Given the description of an element on the screen output the (x, y) to click on. 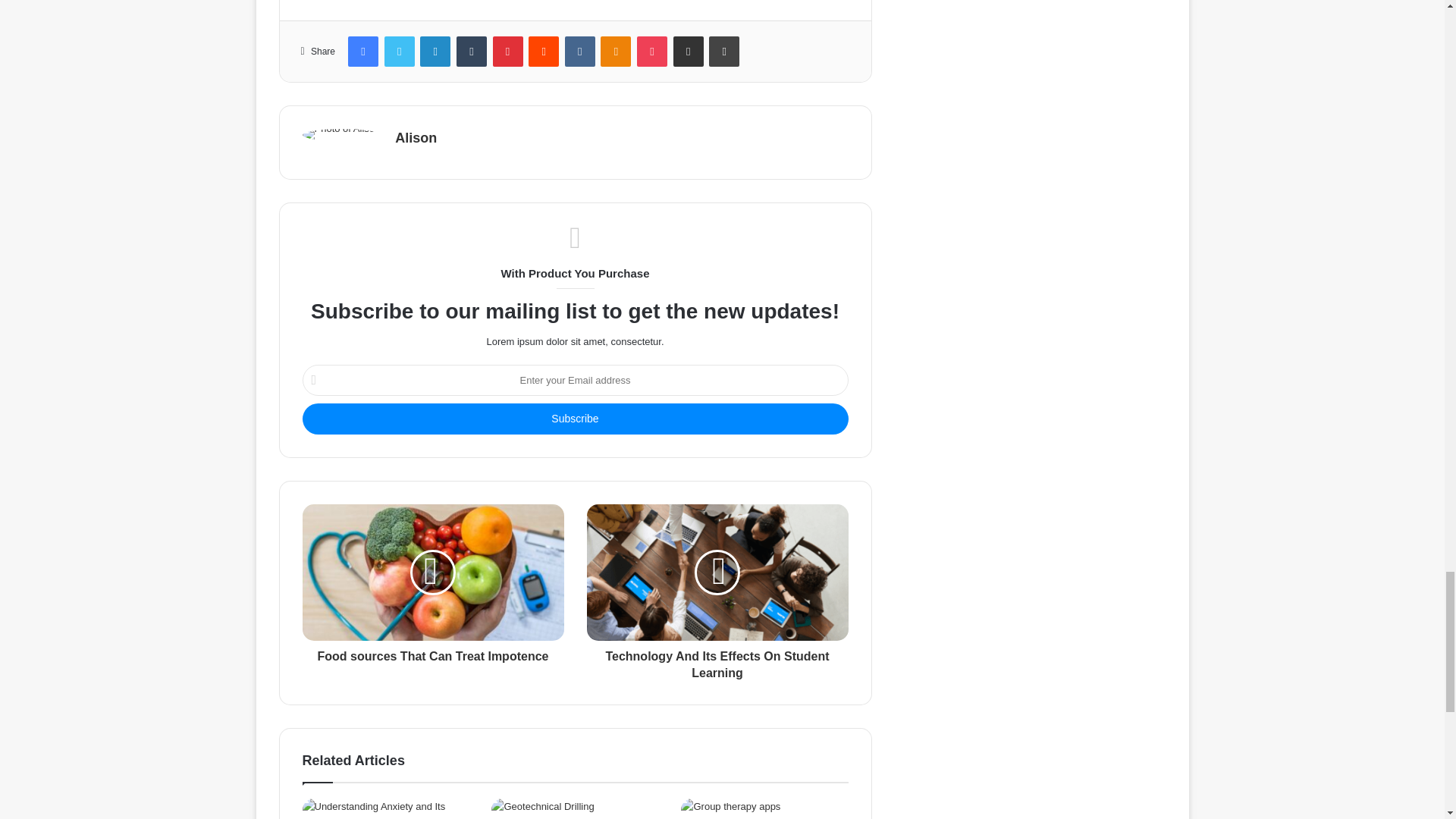
Subscribe (574, 418)
